Given the description of an element on the screen output the (x, y) to click on. 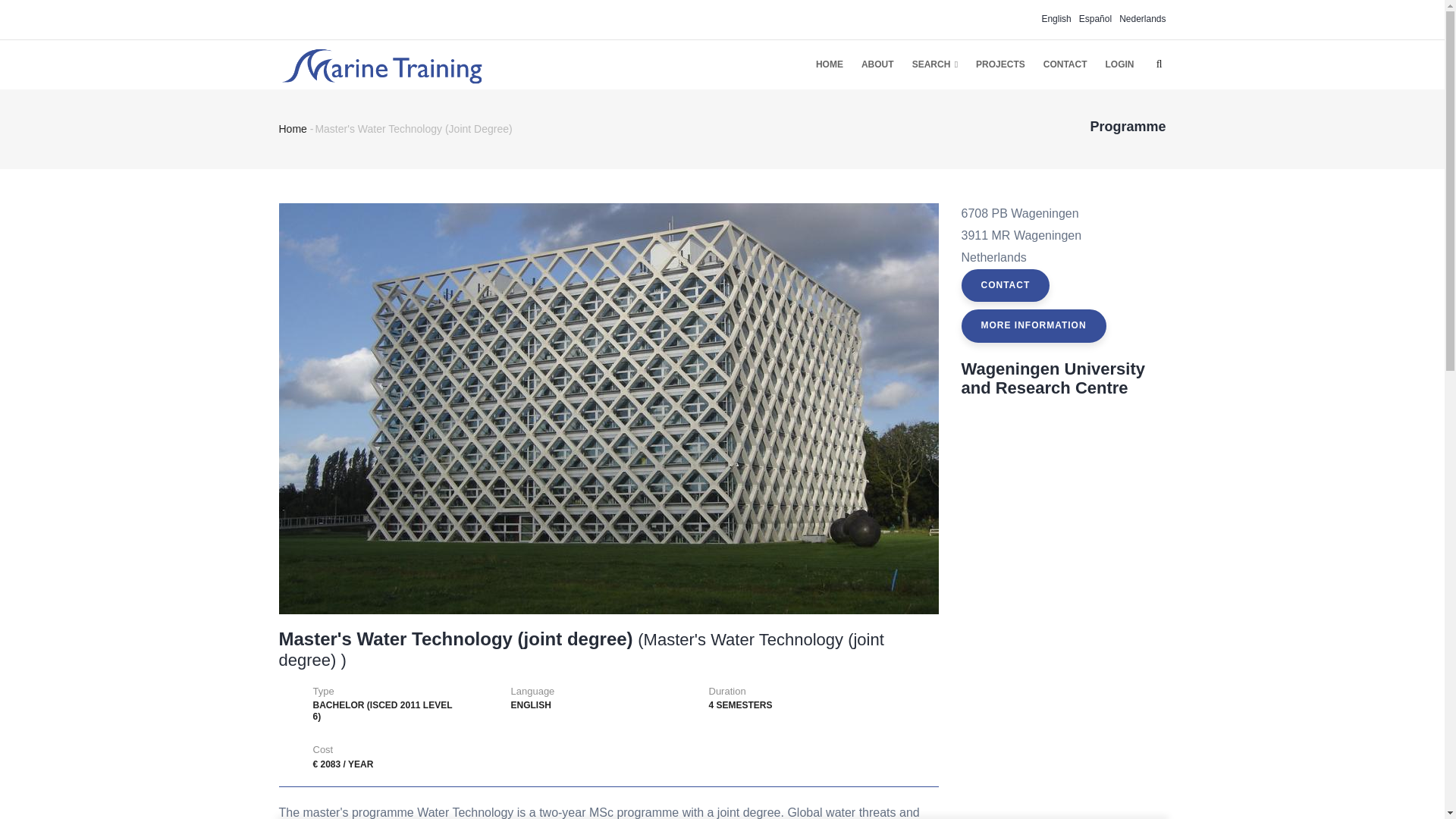
Nederlands (1142, 18)
CONTACT (1004, 285)
English (1055, 18)
LOGIN (1119, 65)
Home (293, 128)
SEARCH (934, 65)
ABOUT (876, 65)
MORE INFORMATION (1033, 326)
CONTACT (1064, 65)
